Given the description of an element on the screen output the (x, y) to click on. 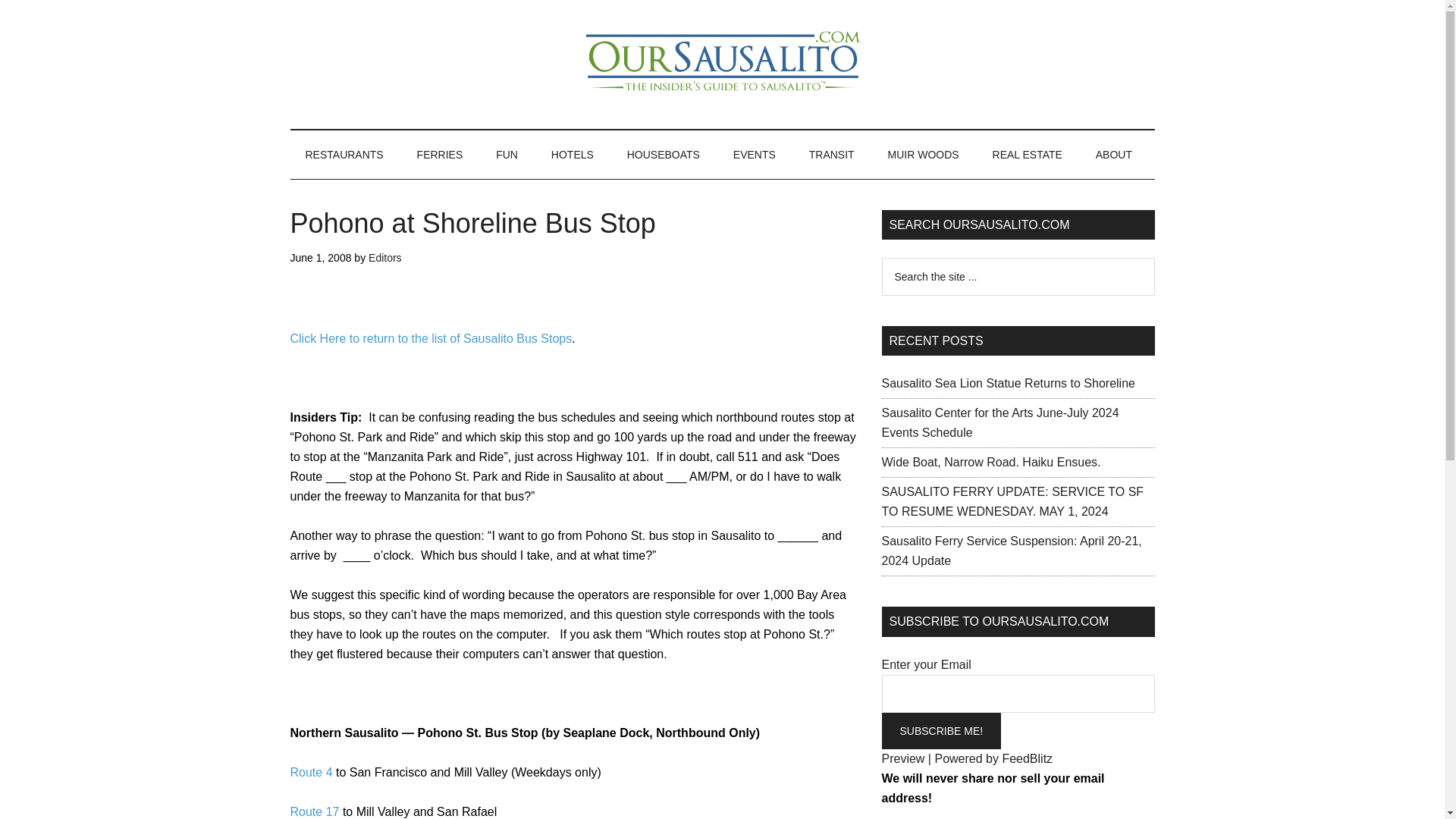
Sausalito Ferry Guide 2015 (440, 154)
HOTELS (571, 154)
FUN (506, 154)
Subscribe me! (940, 730)
Best Sausalito Restaurants 2015 (343, 154)
HOUSEBOATS (662, 154)
OurSausalito.com (721, 64)
FERRIES (440, 154)
